Given the description of an element on the screen output the (x, y) to click on. 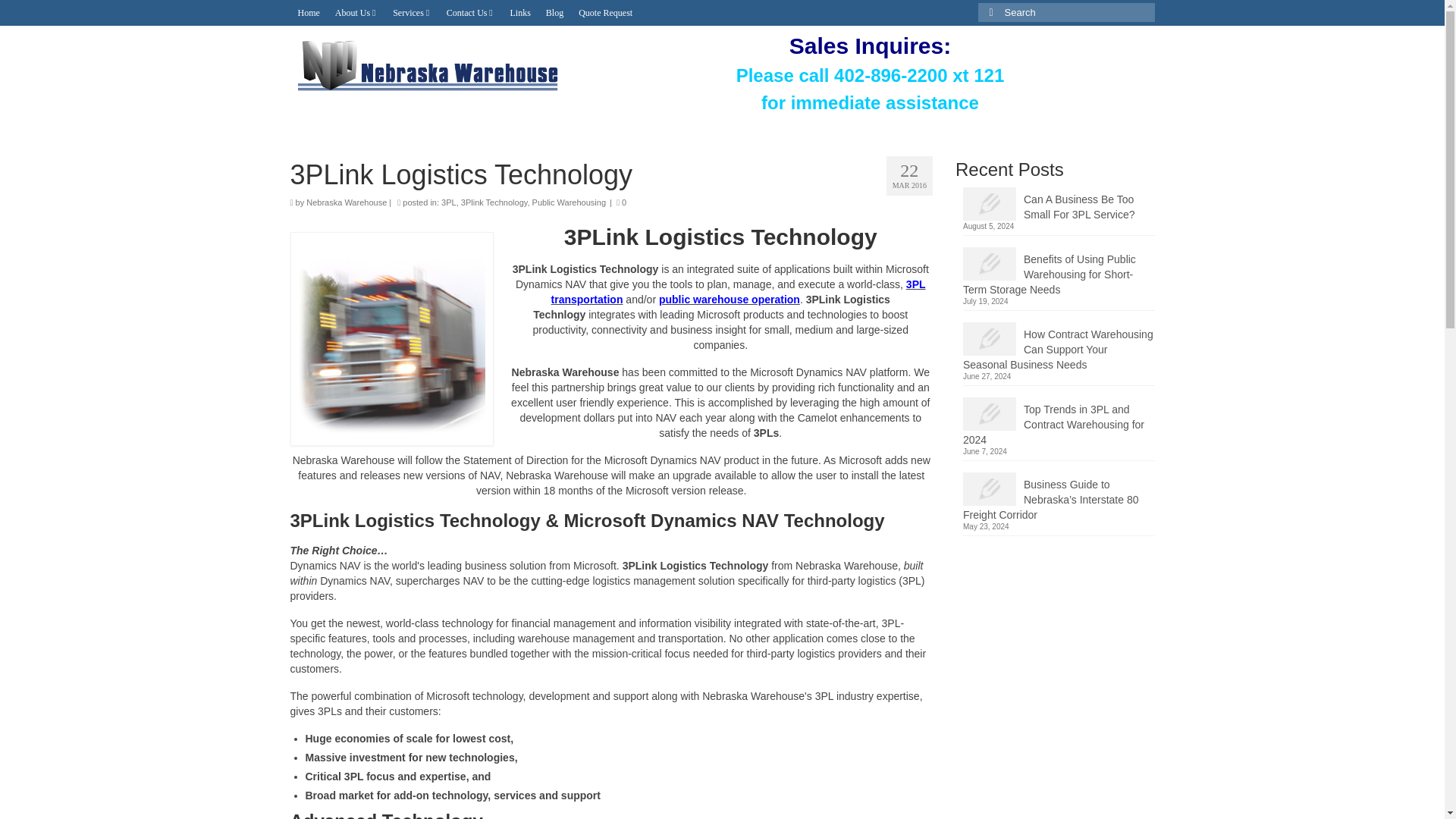
Services (412, 12)
Links (519, 12)
Home (307, 12)
Quote Request (605, 12)
Links (519, 12)
Blog (554, 12)
Services (412, 12)
About Us (356, 12)
About Us (356, 12)
Home (307, 12)
